Given the description of an element on the screen output the (x, y) to click on. 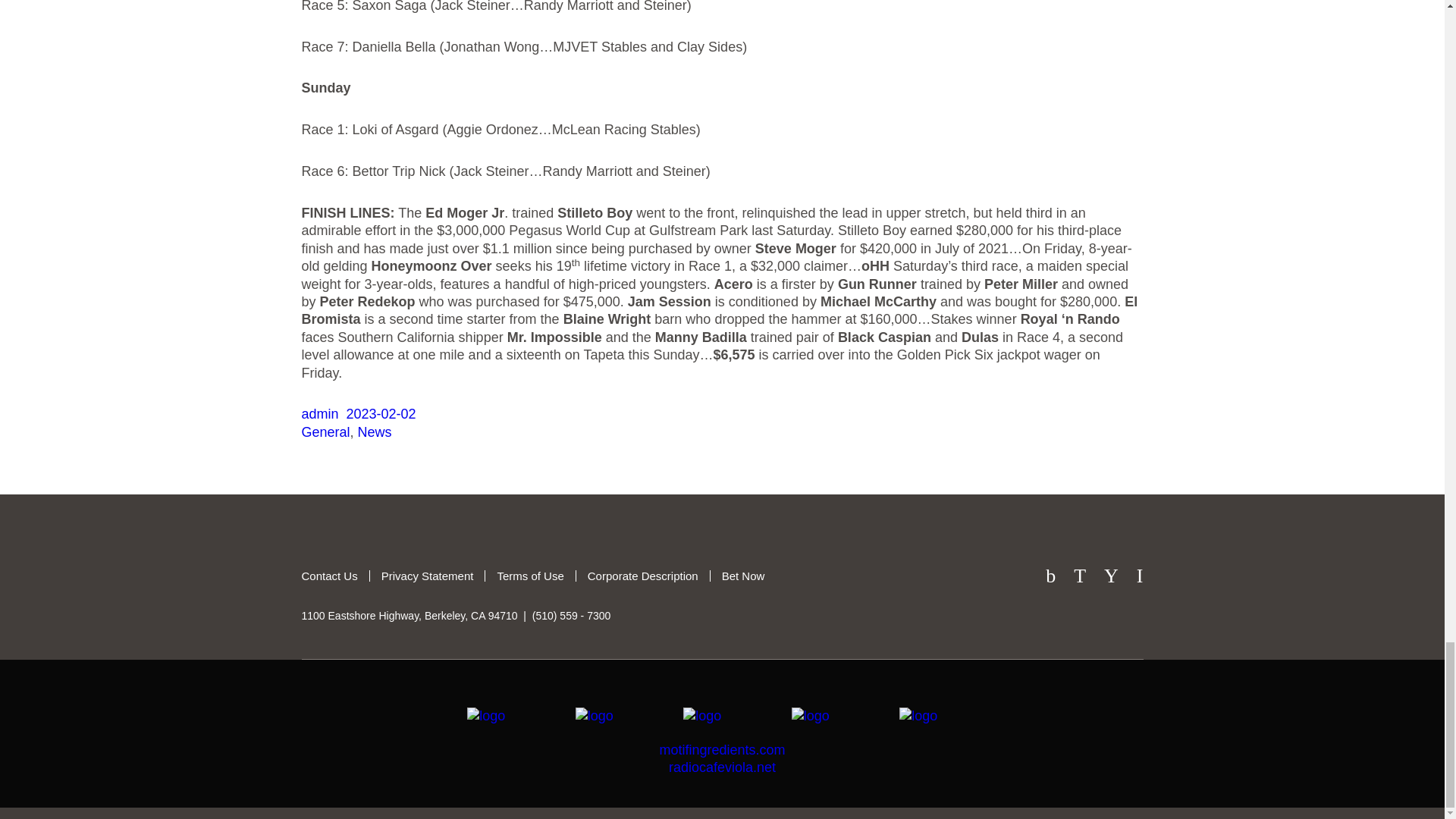
Privacy Statement (426, 575)
T (1079, 575)
motifingredients.com (721, 749)
General (325, 432)
I (1139, 575)
Terms of Use (529, 575)
radiocafeviola.net (722, 767)
Bet Now (743, 575)
Contact Us (328, 575)
Corporate Description (642, 575)
